Given the description of an element on the screen output the (x, y) to click on. 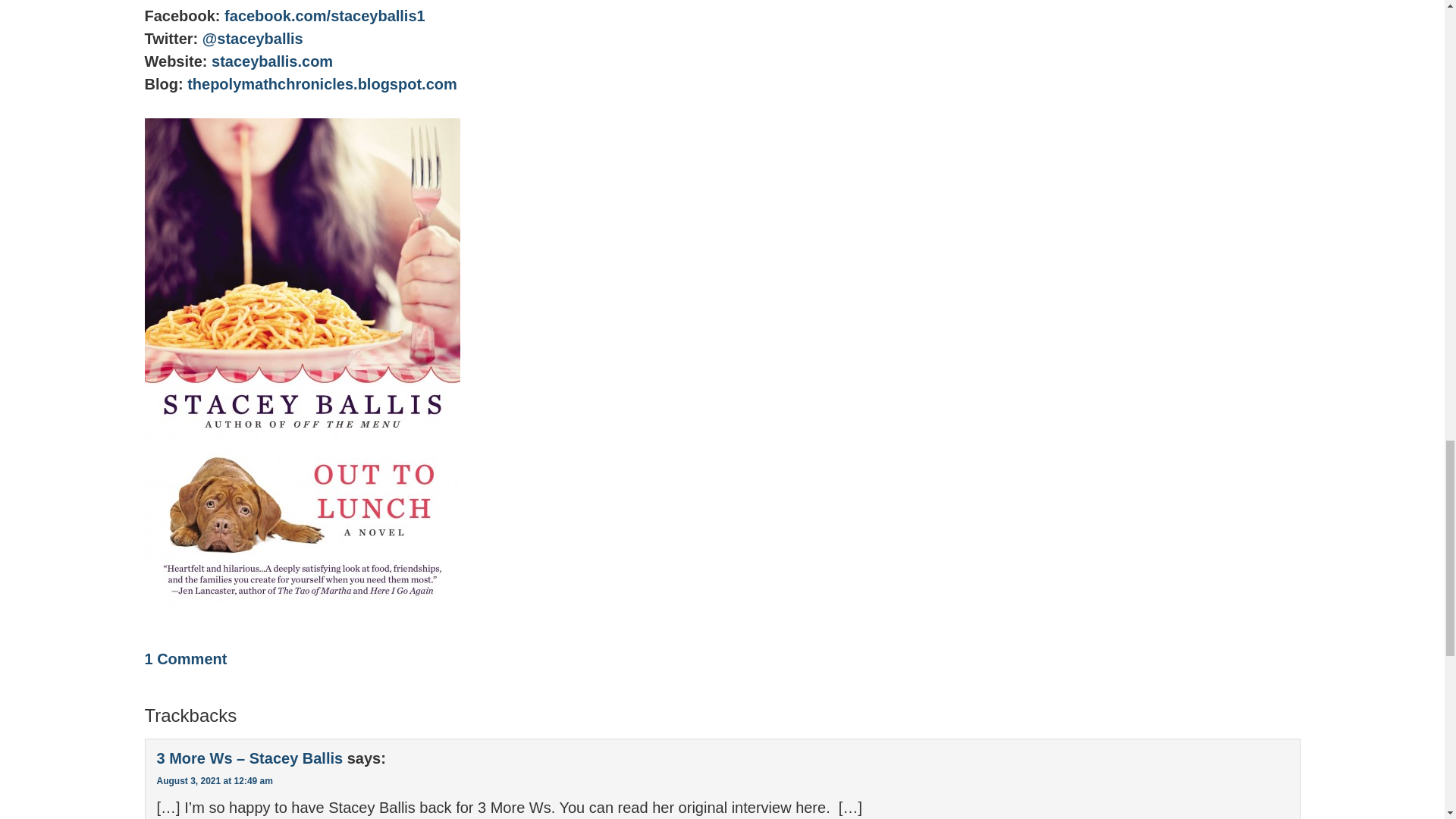
thepolymathchronicles.blogspot.com (322, 84)
1 Comment (185, 658)
staceyballis.com (272, 61)
August 3, 2021 at 12:49 am (213, 780)
